Given the description of an element on the screen output the (x, y) to click on. 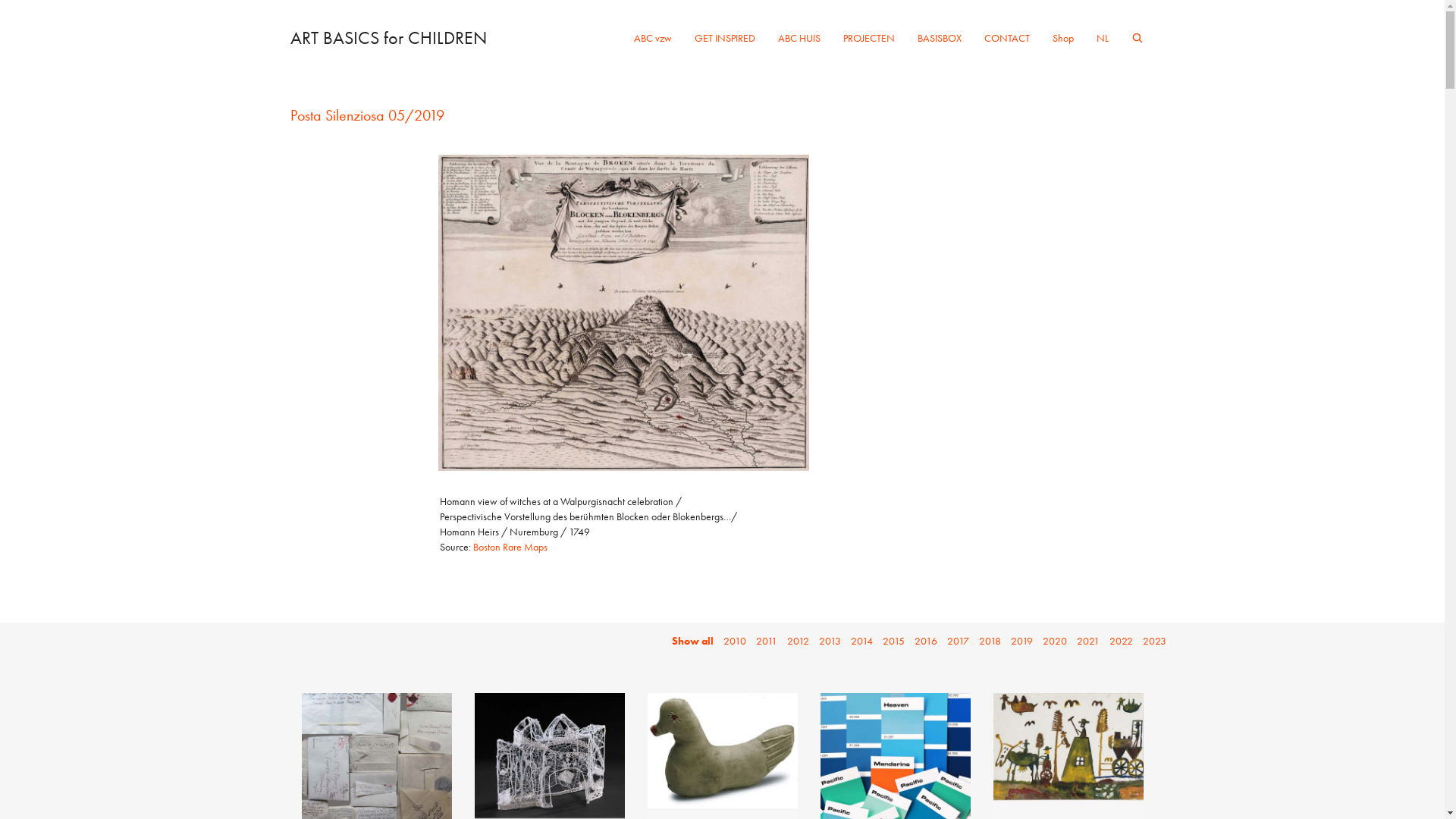
GET INSPIRED Element type: text (723, 37)
2023 Element type: text (1153, 640)
PROJECTEN Element type: text (868, 37)
Boston Rare Maps Element type: text (510, 546)
2019 Element type: text (1021, 640)
BASISBOX Element type: text (938, 37)
2015 Element type: text (893, 640)
Show all Element type: text (692, 640)
2016 Element type: text (925, 640)
2018 Element type: text (989, 640)
ABC HUIS Element type: text (798, 37)
CONTACT Element type: text (1006, 37)
2021 Element type: text (1087, 640)
2020 Element type: text (1053, 640)
2017 Element type: text (957, 640)
2011 Element type: text (765, 640)
ABC vzw Element type: text (651, 37)
2010 Element type: text (734, 640)
2014 Element type: text (861, 640)
2012 Element type: text (798, 640)
NL Element type: text (1101, 37)
ART BASICS for CHILDREN Element type: text (387, 37)
2022 Element type: text (1120, 640)
Shop Element type: text (1062, 37)
2013 Element type: text (829, 640)
